Given the description of an element on the screen output the (x, y) to click on. 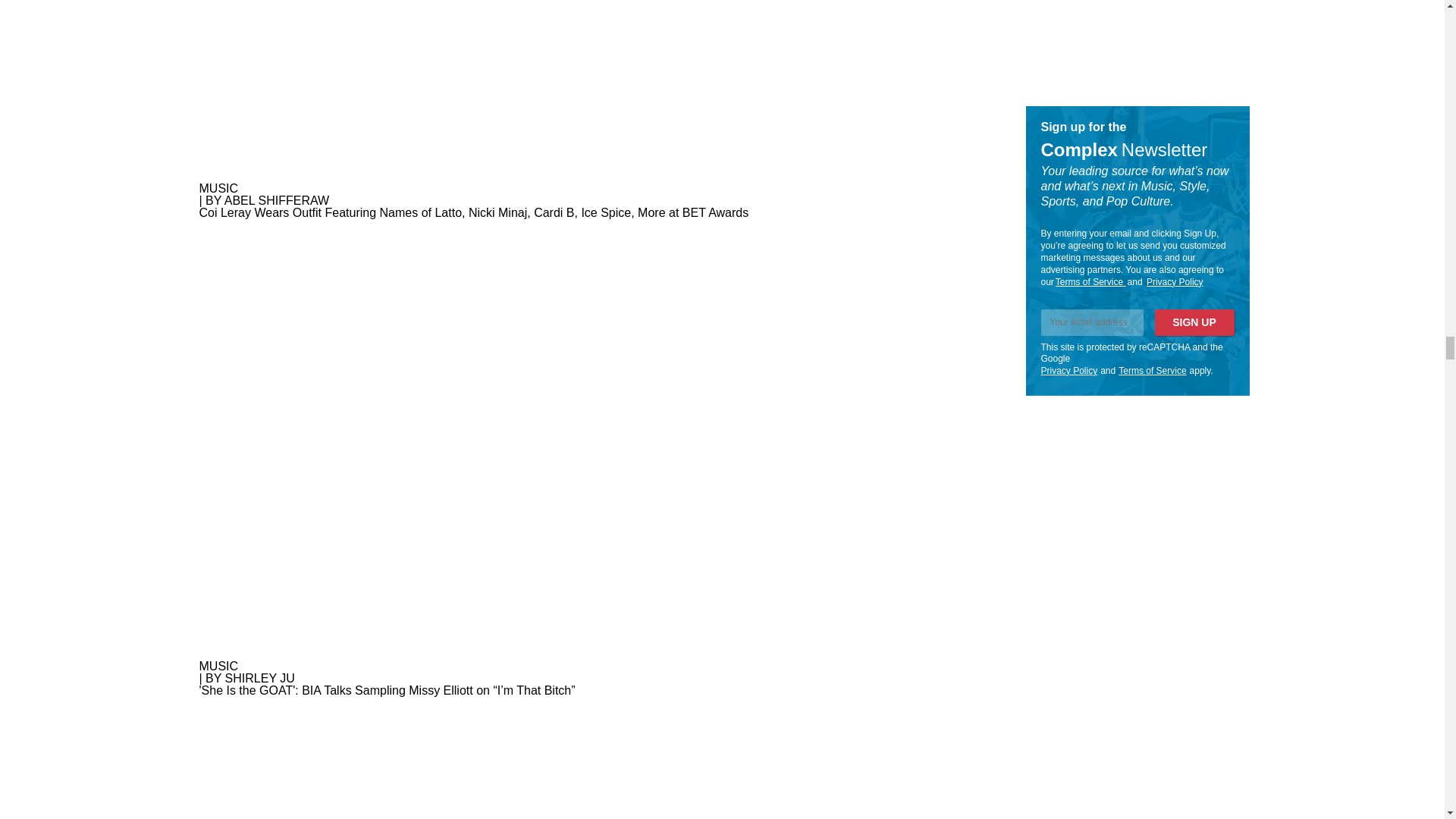
complexbestnewmusicthisweekbia6lackchloe (591, 757)
